Given the description of an element on the screen output the (x, y) to click on. 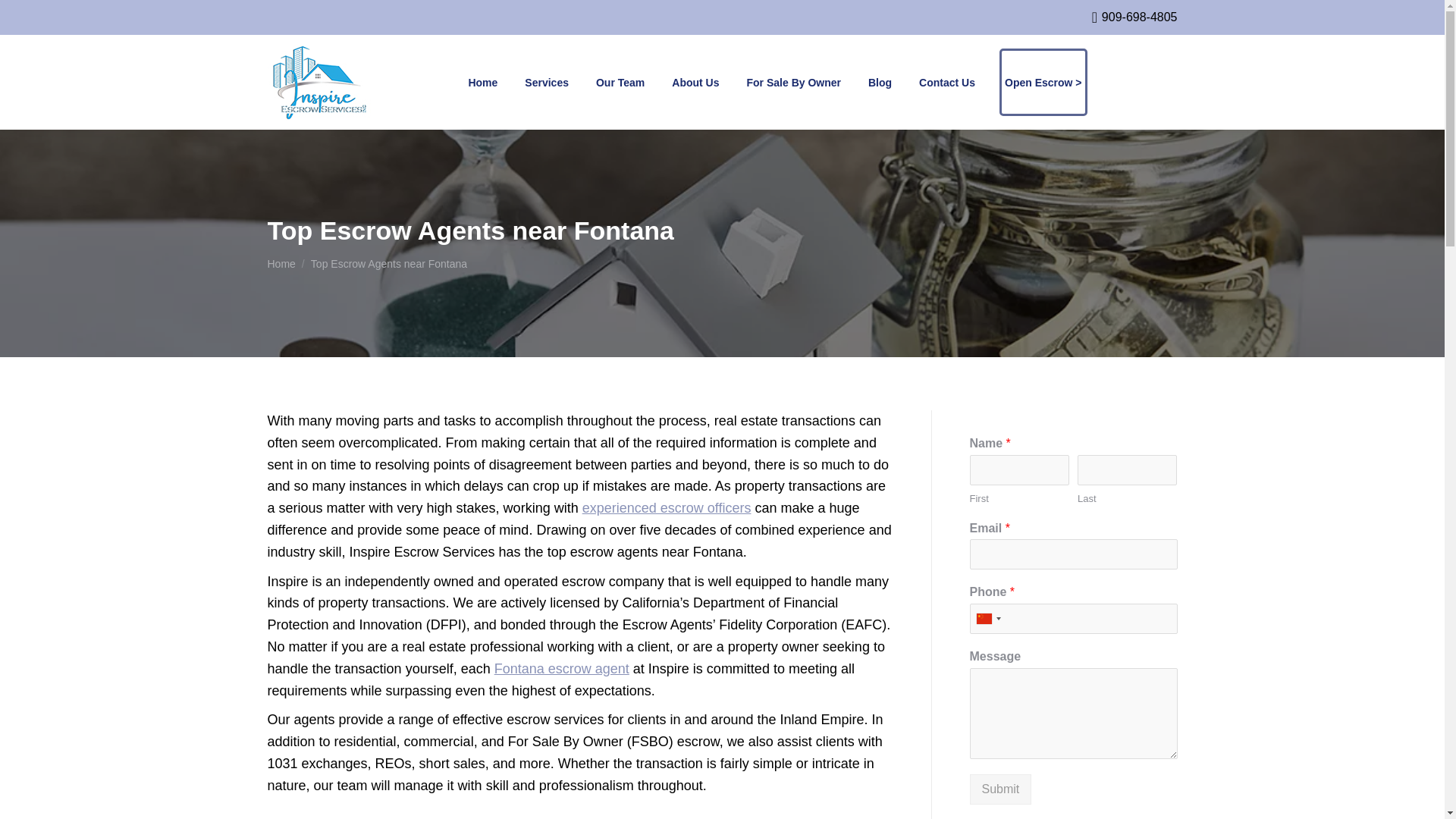
Contact Us (946, 82)
909-698-4805 (1134, 17)
Home (280, 263)
For Sale By Owner (792, 82)
